Given the description of an element on the screen output the (x, y) to click on. 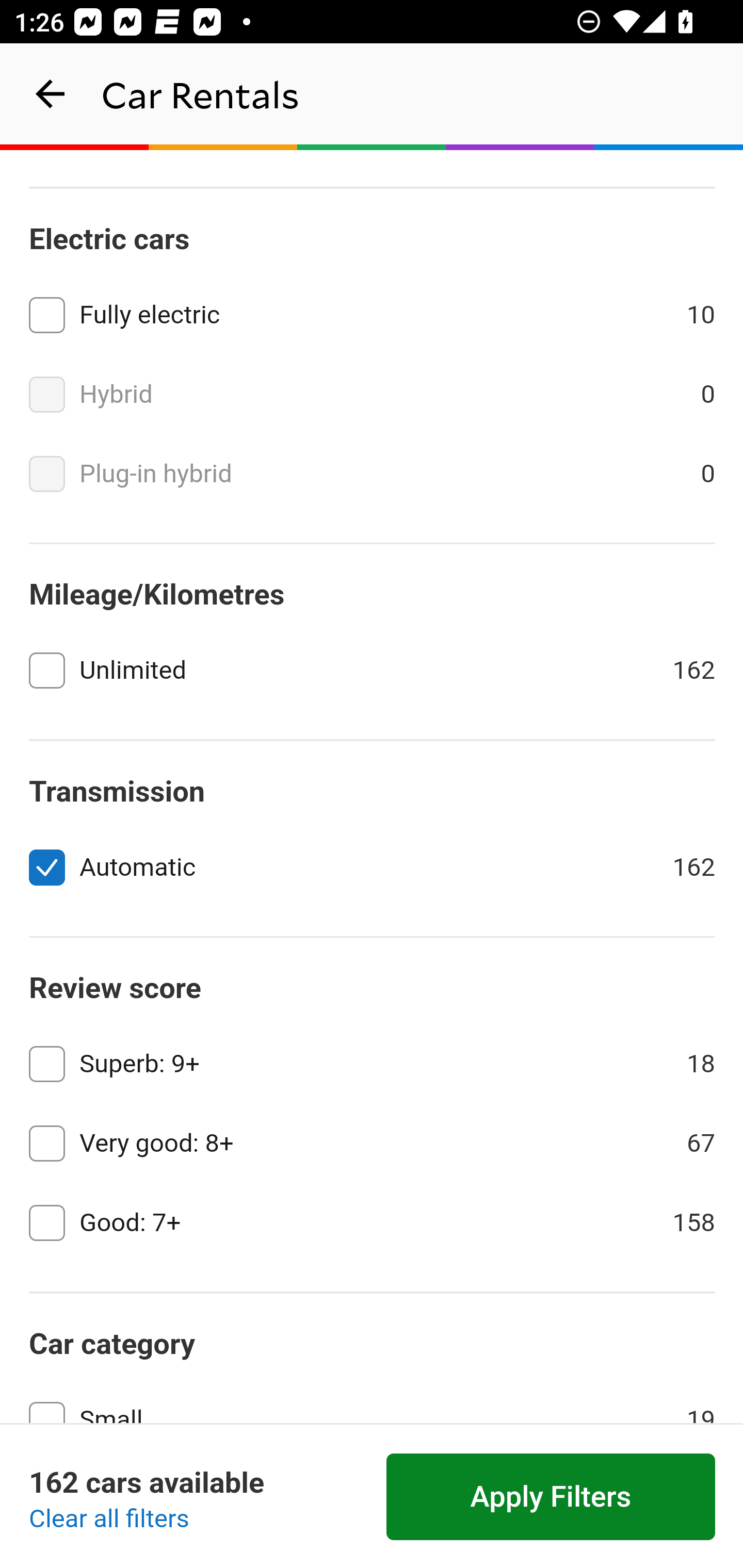
navigation_button (50, 93)
Apply Filters (551, 1497)
Clear all filters (108, 1519)
